Given the description of an element on the screen output the (x, y) to click on. 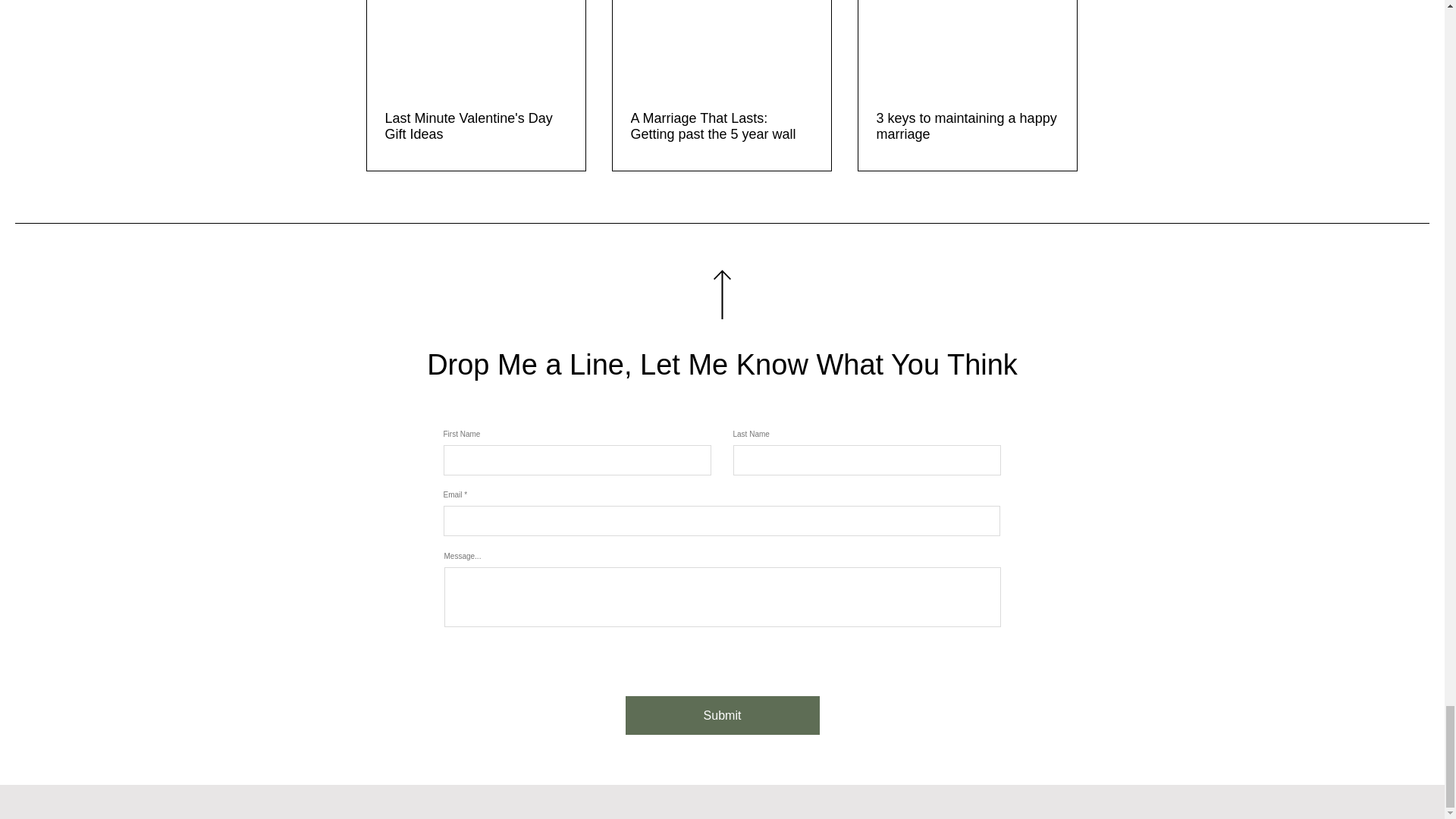
3 keys to maintaining a happy marriage (967, 126)
A Marriage That Lasts: Getting past the 5 year wall (721, 126)
Last Minute Valentine's Day Gift Ideas (476, 126)
